Given the description of an element on the screen output the (x, y) to click on. 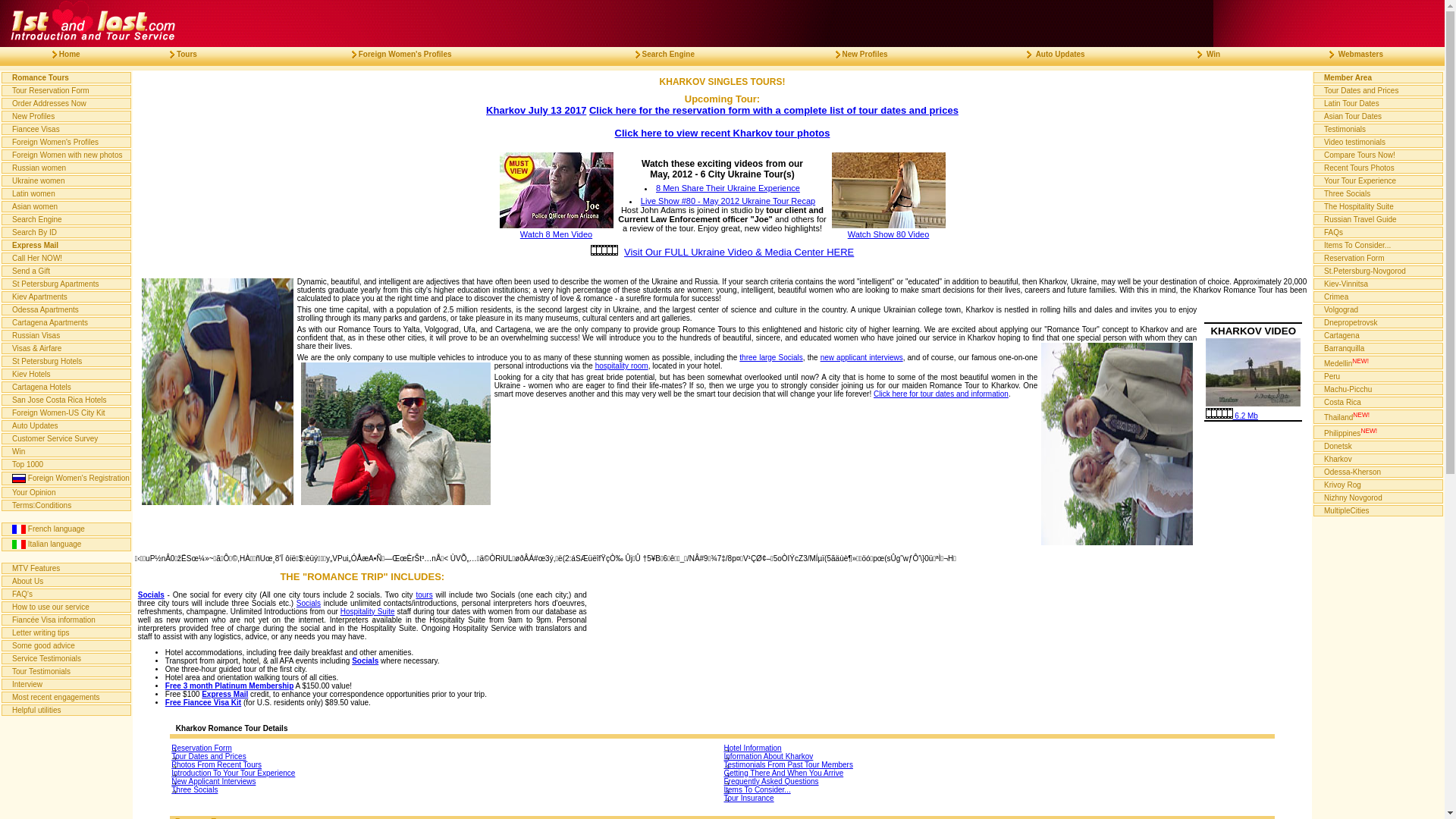
Click here to view recent Kharkov tour photos Element type: text (722, 132)
Tour Dates and Prices Element type: text (445, 756)
Recent Tours Photos Element type: text (1378, 167)
Three Socials Element type: text (445, 789)
New Applicant Interviews Element type: text (445, 781)
Donetsk Element type: text (1378, 445)
Cartagena Hotels Element type: text (66, 386)
Video testimonials Element type: text (1378, 141)
 Italian language Element type: text (66, 544)
Member Area Element type: text (1378, 77)
Order Addresses Now Element type: text (66, 103)
St.Petersburg-Novgorod Element type: text (1378, 270)
three large Socials Element type: text (770, 357)
Peru Element type: text (1378, 376)
Kiev Hotels Element type: text (66, 373)
Barranquilla Element type: text (1378, 348)
 Auto Updates Element type: text (1049, 54)
Testimonials Element type: text (1378, 128)
Kharkov July 13 2017 Element type: text (536, 110)
Nizhny Novgorod Element type: text (1378, 497)
Reservation Form Element type: text (1378, 257)
MTV Features Element type: text (66, 568)
Hotel Information Element type: text (997, 747)
Express Mail Element type: text (66, 245)
Some good advice Element type: text (66, 645)
Dnepropetrovsk Element type: text (1378, 322)
St Petersburg Apartments Element type: text (66, 283)
New Profiles Element type: text (855, 54)
Search By ID Element type: text (66, 232)
Auto Updates Element type: text (66, 425)
Live Show #80 - May 2012 Ukraine Tour Recap Element type: text (727, 200)
8 Men Share Their Ukraine Experience Element type: text (727, 187)
Free Fiancee Visa Kit Element type: text (203, 702)
Home Element type: text (60, 54)
Search Engine Element type: text (658, 54)
tours Element type: text (423, 594)
Socials Element type: text (308, 603)
Your Opinion Element type: text (66, 492)
Watch 8 Men Video Element type: text (555, 229)
6.2 Mb Element type: text (1231, 415)
Testimonials From Past Tour Members Element type: text (997, 764)
Information About Kharkov Element type: text (997, 756)
Letter writing tips Element type: text (66, 632)
 Win Element type: text (1202, 54)
Frequently Asked Questions Element type: text (997, 781)
Top 1000 Element type: text (66, 464)
Cartagena Apartments Element type: text (66, 322)
Volgograd Element type: text (1378, 309)
Foreign Women with new photos Element type: text (66, 154)
Foreign Women's Profiles Element type: text (395, 54)
ThailandNEW! Element type: text (1378, 416)
Tour Reservation Form Element type: text (66, 90)
 Webmasters Element type: text (1350, 54)
Introduction To Your Tour Experience Element type: text (445, 772)
MedellinNEW! Element type: text (1378, 362)
The Hospitality Suite Element type: text (1378, 206)
Kiev Apartments Element type: text (66, 296)
Tour Dates and Prices Element type: text (1378, 90)
Photos From Recent Tours Element type: text (445, 764)
Hospitality Suite Element type: text (367, 611)
Tour Testimonials Element type: text (66, 671)
St Petersburg Hotels Element type: text (66, 361)
Russian Visas Element type: text (66, 335)
Crimea Element type: text (1378, 296)
Three Socials Element type: text (1378, 193)
Service Testimonials Element type: text (66, 658)
Socials Element type: text (151, 594)
Kiev-Vinnitsa Element type: text (1378, 283)
San Jose Costa Rica Hotels Element type: text (66, 399)
Krivoy Rog Element type: text (1378, 484)
Ukraine women Element type: text (66, 180)
Watch Show 80 Video Element type: text (887, 229)
Compare Tours Now! Element type: text (1378, 154)
Free 3 month Platinum Membership Element type: text (229, 685)
About Us Element type: text (66, 580)
MultipleCities Element type: text (1378, 510)
Foreign Women-US City Kit Element type: text (66, 412)
Odessa-Kherson Element type: text (1378, 471)
Items To Consider... Element type: text (997, 789)
Foreign Women's Profiles Element type: text (66, 141)
new applicant interviews Element type: text (861, 357)
Costa Rica Element type: text (1378, 401)
 French language Element type: text (66, 529)
Odessa Apartments Element type: text (66, 309)
Latin Tour Dates Element type: text (1378, 103)
Your Tour Experience Element type: text (1378, 180)
 Foreign Women's Registration Element type: text (66, 478)
Getting There And When You Arrive Element type: text (997, 772)
Search Engine Element type: text (66, 219)
Latin women Element type: text (66, 193)
PhilippinesNEW! Element type: text (1378, 432)
Asian Tour Dates Element type: text (1378, 116)
hospitality room Element type: text (621, 365)
Fiancee Visas Element type: text (66, 128)
Romance Tours Element type: text (66, 77)
Call Her NOW! Element type: text (66, 257)
Machu-Picchu Element type: text (1378, 389)
Express Mail Element type: text (224, 694)
FAQ's Element type: text (66, 593)
Helpful utilities Element type: text (66, 709)
Asian women Element type: text (66, 206)
FAQs Element type: text (1378, 232)
Click here for tour dates and information Element type: text (940, 393)
How to use our service Element type: text (66, 606)
Tour Insurance Element type: text (997, 797)
Win Element type: text (66, 451)
Kharkov Element type: text (1378, 458)
Russian Travel Guide Element type: text (1378, 219)
Visas & Airfare Element type: text (66, 348)
Cartagena Element type: text (1378, 335)
Reservation Form Element type: text (445, 747)
Visit Our FULL Ukraine Video & Media Center HERE Element type: text (738, 251)
Tours Element type: text (177, 54)
Interview Element type: text (66, 684)
New Profiles Element type: text (66, 116)
Customer Service Survey Element type: text (66, 438)
Send a Gift Element type: text (66, 270)
Most recent engagements Element type: text (66, 696)
Socials Element type: text (364, 660)
Russian women Element type: text (66, 167)
Items To Consider... Element type: text (1378, 245)
